Given the description of an element on the screen output the (x, y) to click on. 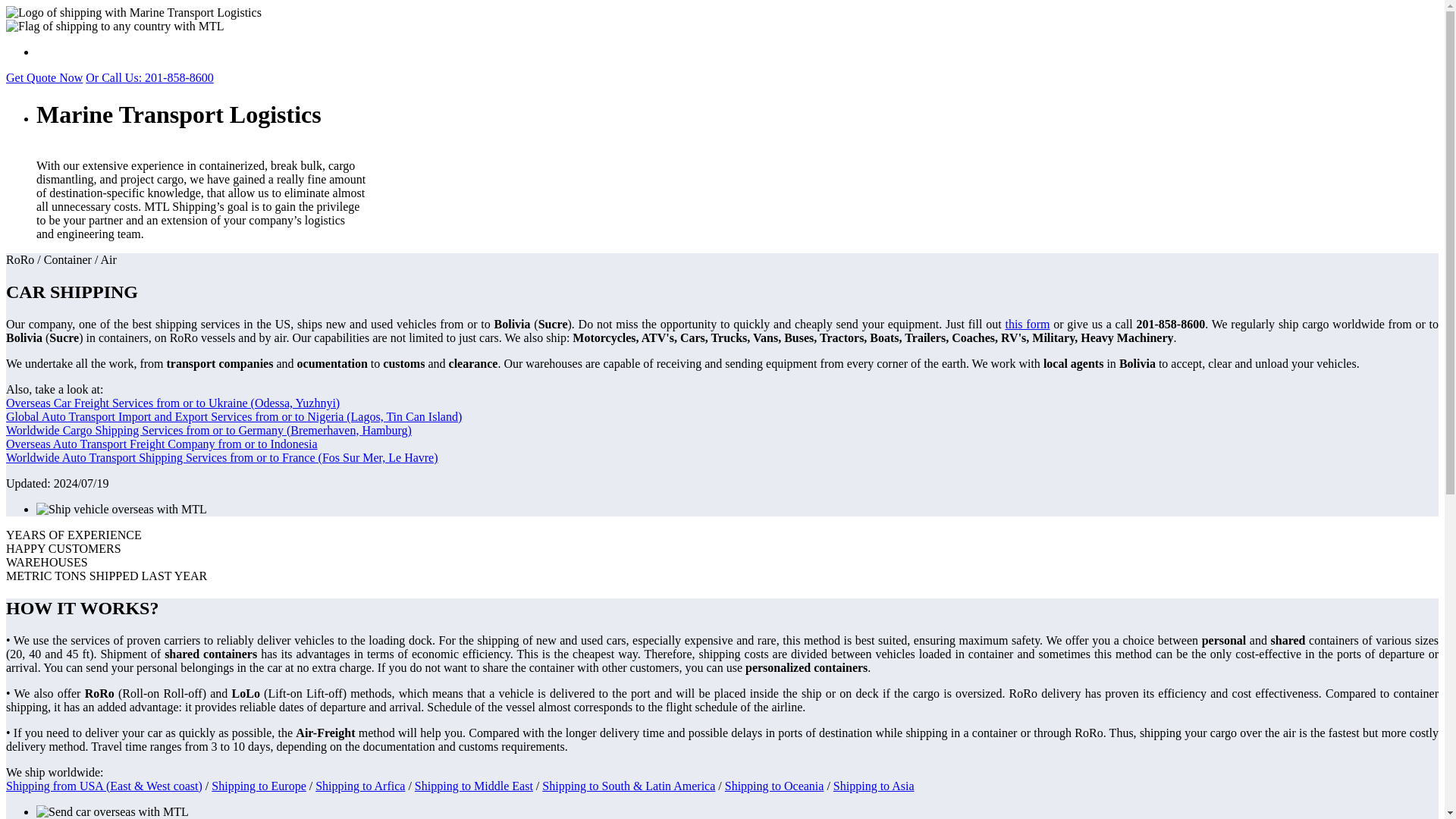
Ship car to any Asia country (873, 785)
Shipping to Oceania (774, 785)
Get Quote Now (43, 77)
Shipping to Middle East (473, 785)
this form (1026, 323)
Global Vehicle Import and Export Services to or from France (221, 457)
Ship car to any Europe country (258, 785)
Shipping to South (587, 785)
Worldwide Cargo Shipping Services to or from Germany (208, 430)
Shipping to Asia (873, 785)
Shipping to Europe (258, 785)
Ship car to any place in the Oceania (774, 785)
Ship car to any Arfica country (359, 785)
Contact our sales manager by phone (148, 77)
